Given the description of an element on the screen output the (x, y) to click on. 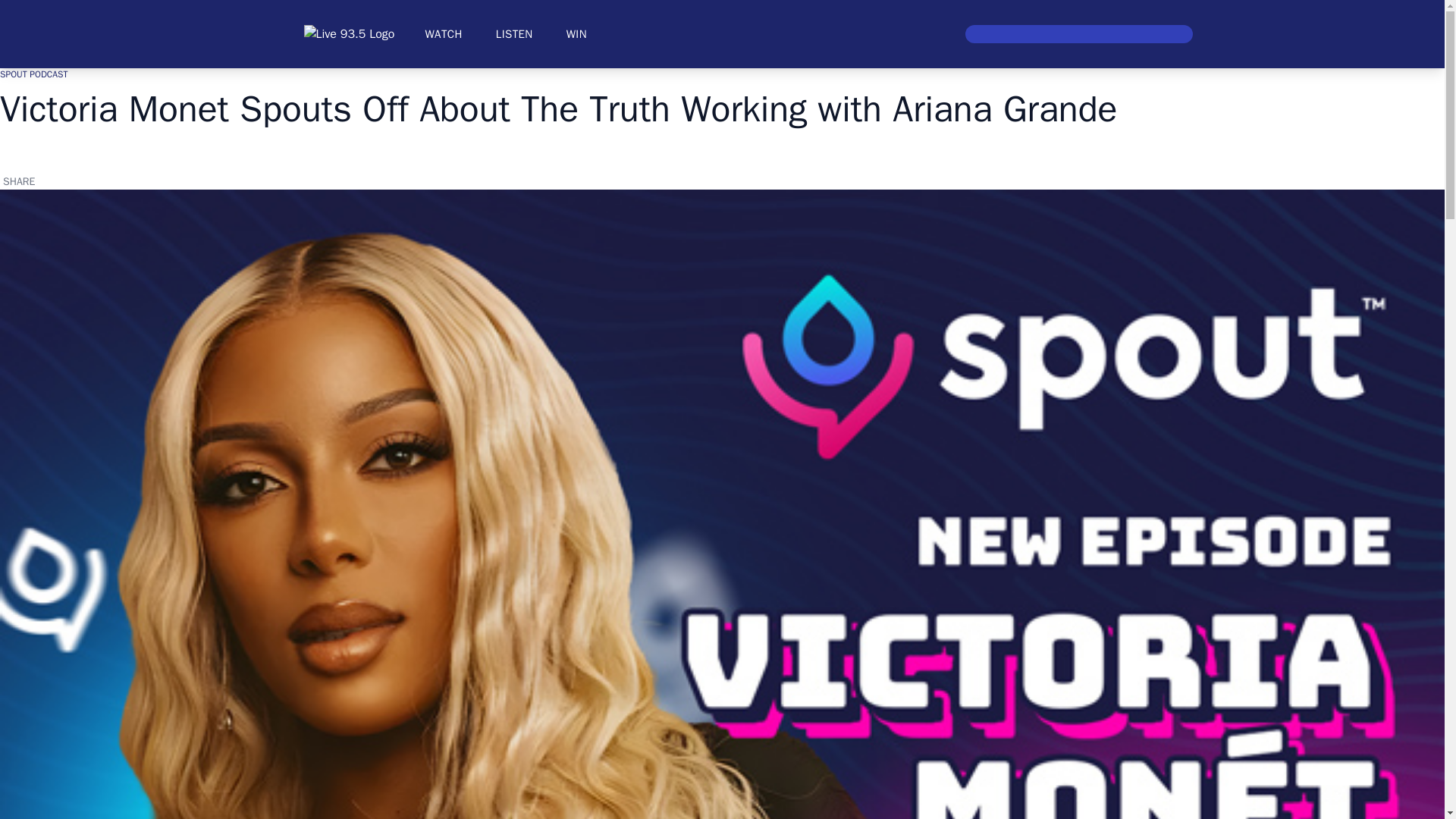
WATCH (443, 33)
Live 93.5 (348, 34)
LISTEN (514, 33)
